Given the description of an element on the screen output the (x, y) to click on. 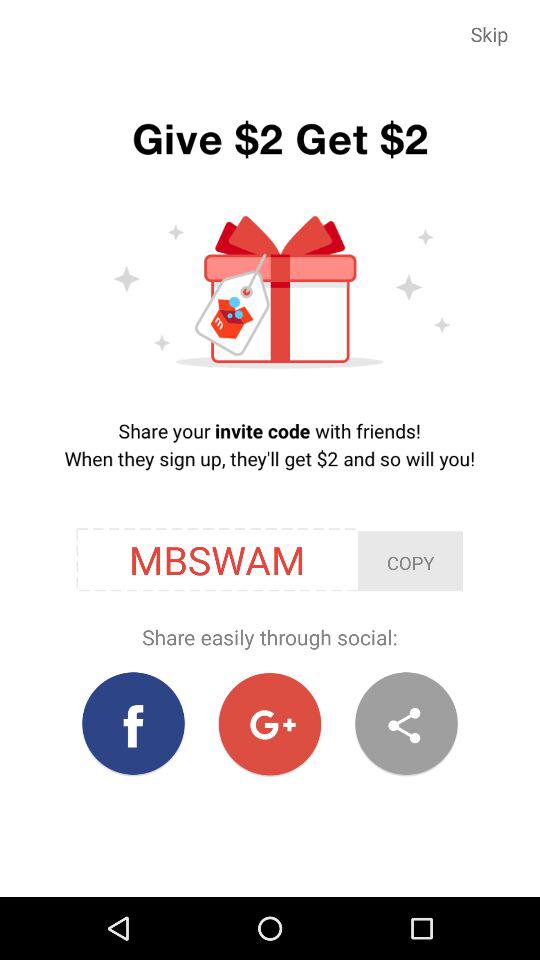
turn off the icon above share easily through icon (410, 561)
